Given the description of an element on the screen output the (x, y) to click on. 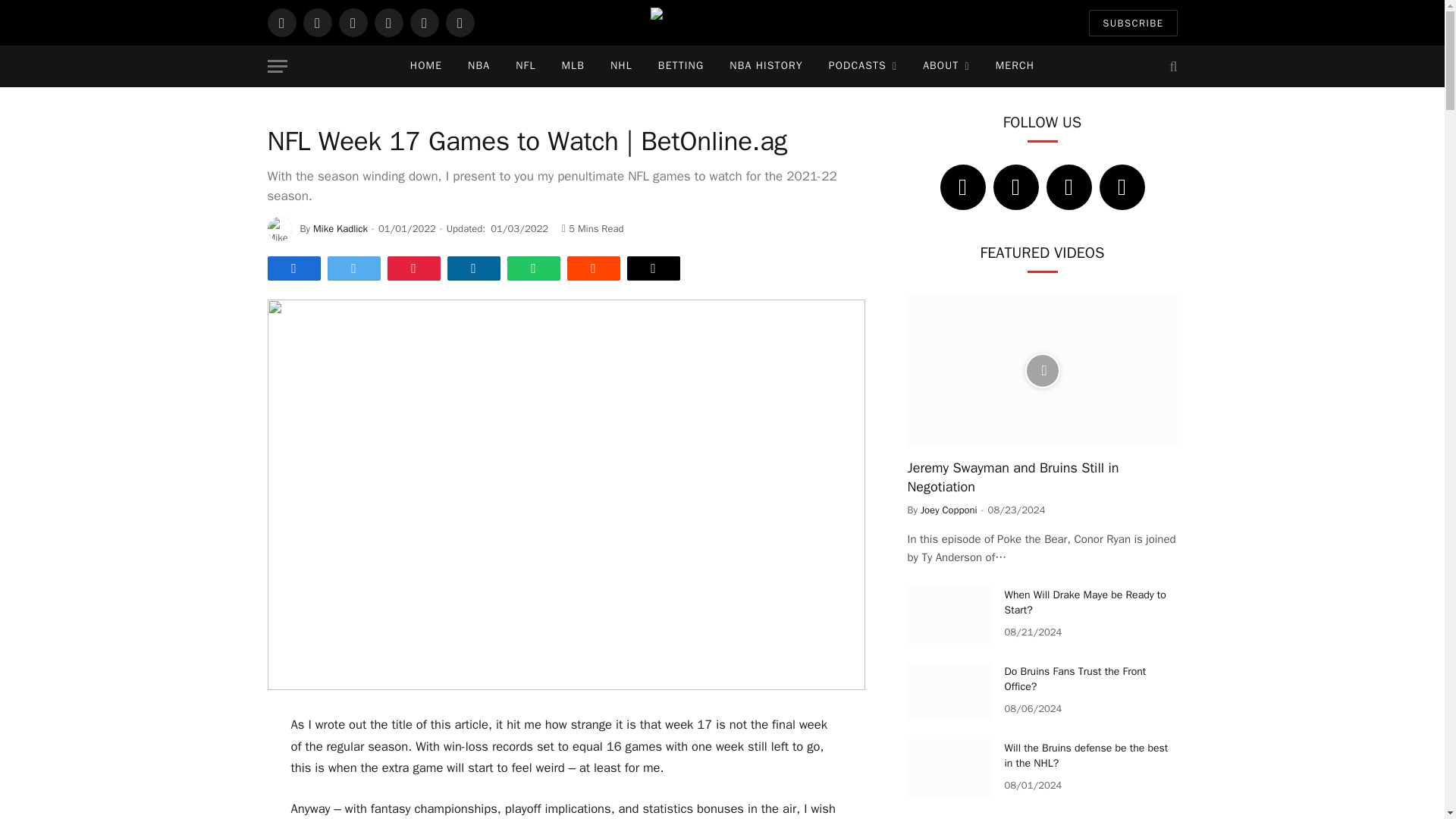
Share via Email (652, 268)
Share on LinkedIn (473, 268)
Share on WhatsApp (532, 268)
Share on Pinterest (413, 268)
CLNS Media (721, 22)
Share on Facebook (293, 268)
Share on Reddit (593, 268)
Posts by Mike Kadlick (340, 228)
